Given the description of an element on the screen output the (x, y) to click on. 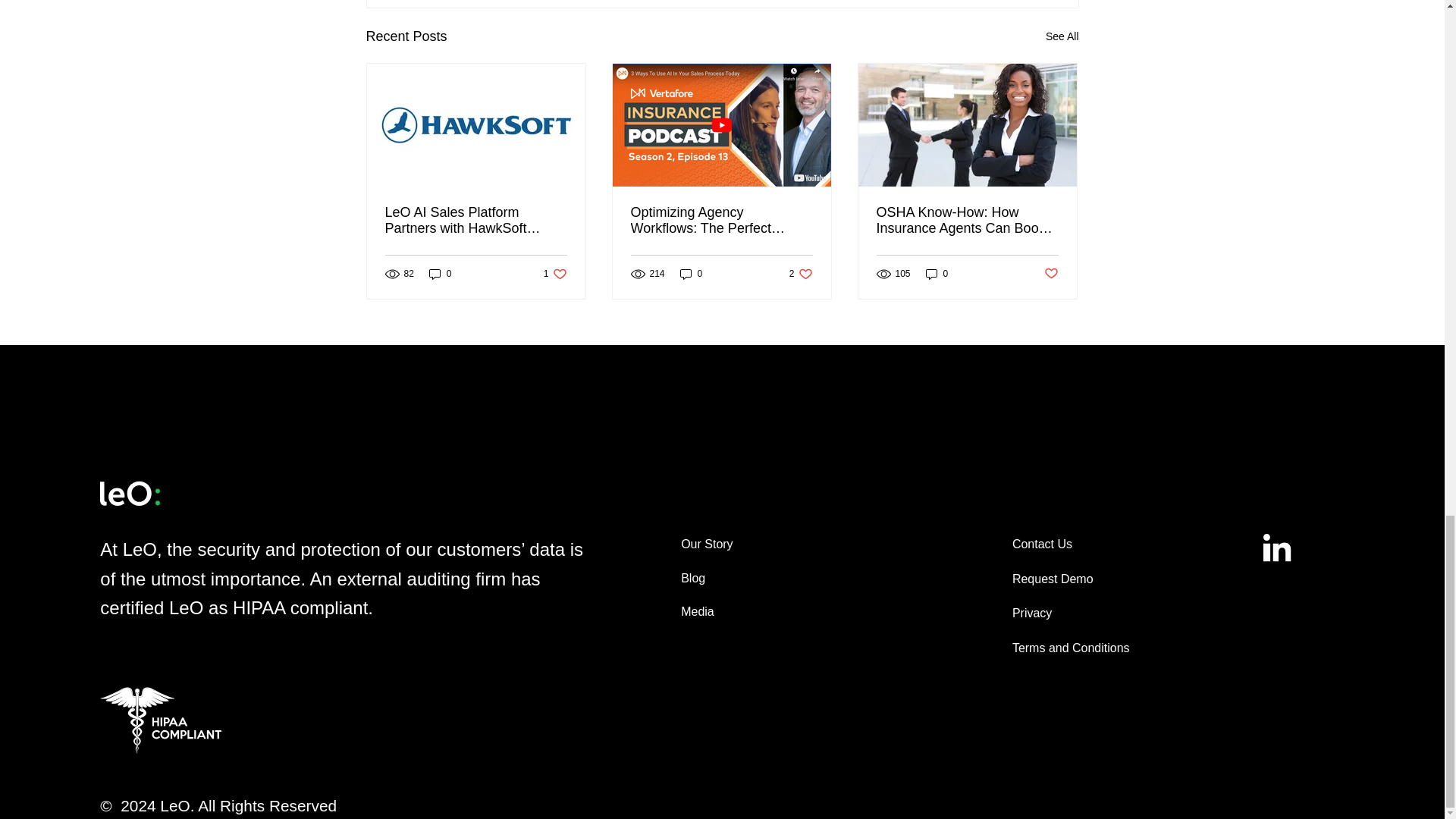
See All (1061, 36)
